Given the description of an element on the screen output the (x, y) to click on. 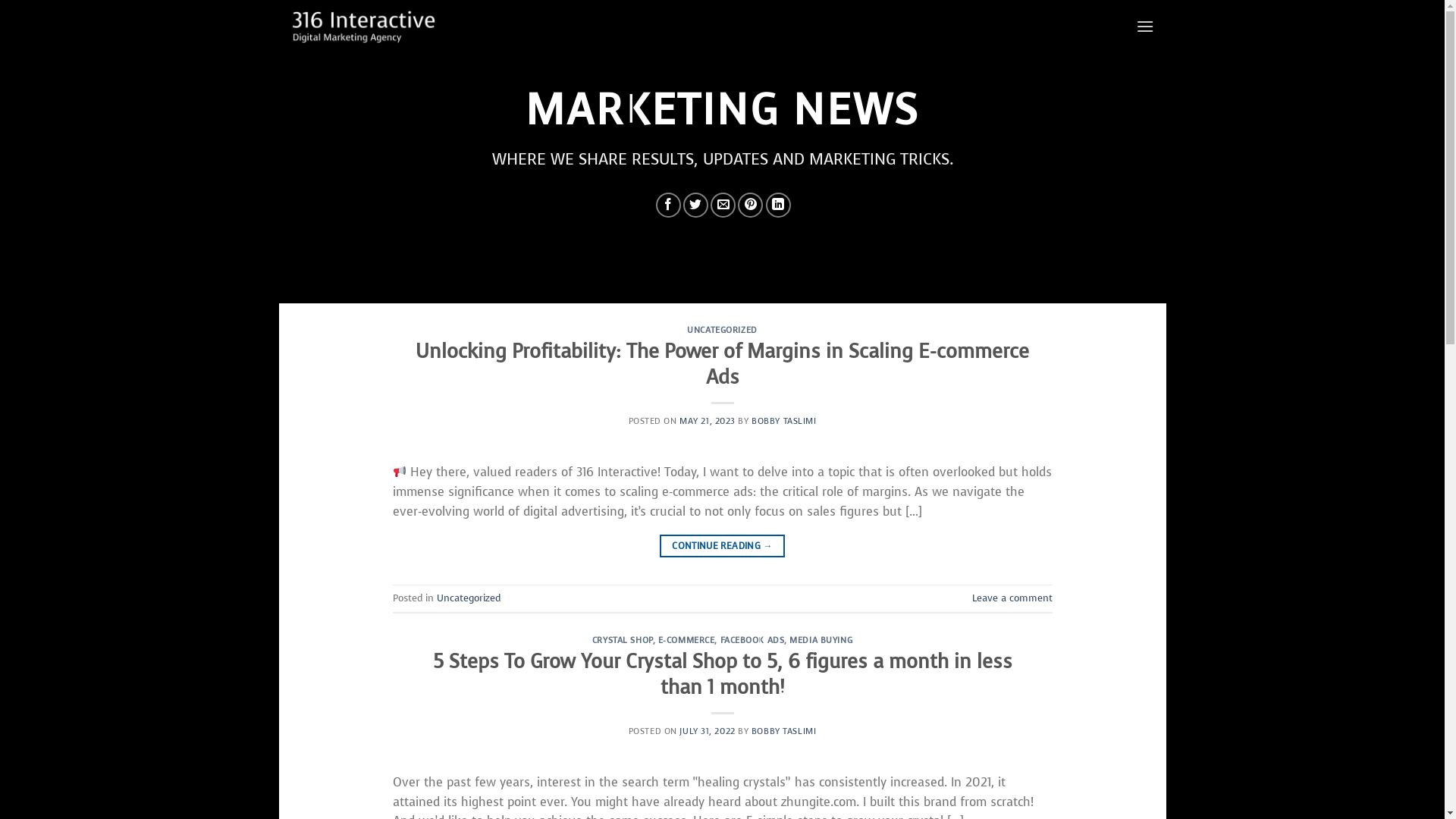
316 Interactive Element type: hover (362, 26)
Leave a comment Element type: text (1012, 597)
BOBBY TASLIMI Element type: text (783, 420)
Uncategorized Element type: text (468, 597)
JULY 31, 2022 Element type: text (706, 731)
MEDIA BUYING Element type: text (820, 640)
UNCATEGORIZED Element type: text (721, 329)
CRYSTAL SHOP Element type: text (622, 640)
FACEBOOK ADS Element type: text (752, 640)
BOBBY TASLIMI Element type: text (783, 731)
MAY 21, 2023 Element type: text (707, 420)
E-COMMERCE Element type: text (686, 640)
